Given the description of an element on the screen output the (x, y) to click on. 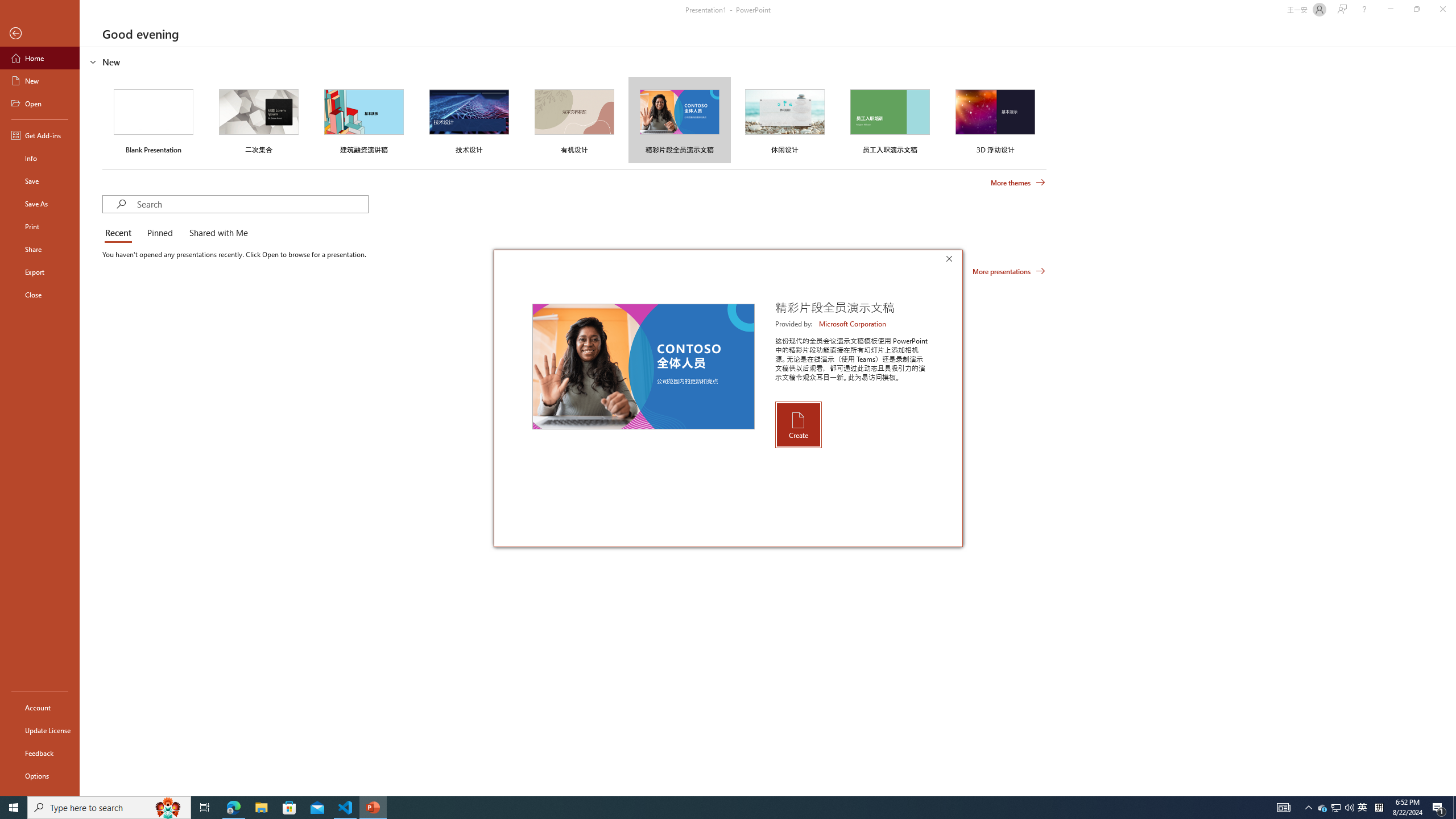
Class: NetUIScrollBar (1450, 421)
Info (40, 157)
Recent (119, 233)
Update License (40, 730)
